Given the description of an element on the screen output the (x, y) to click on. 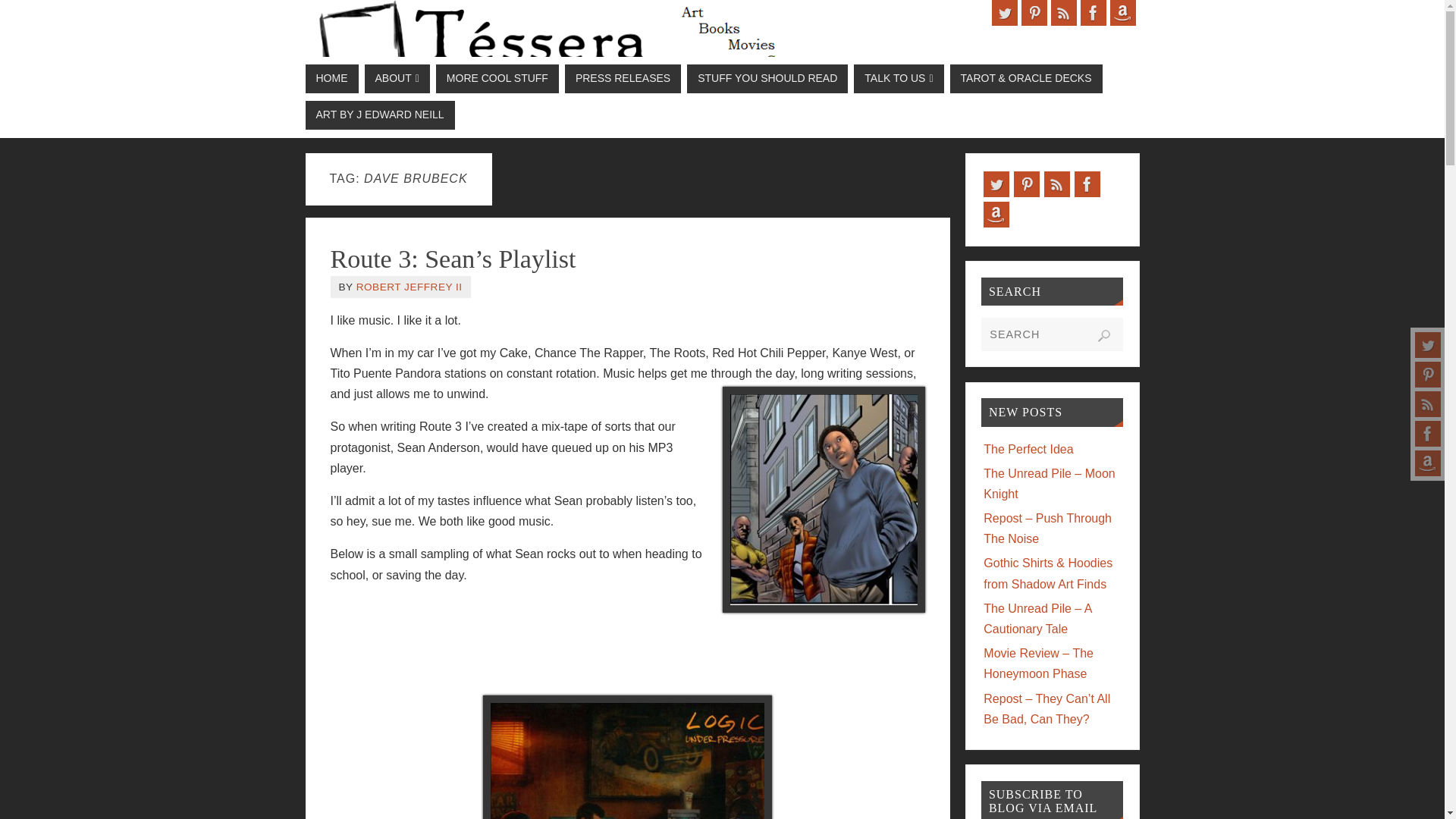
HOME (331, 78)
ROBERT JEFFREY II (409, 286)
Amazon (1428, 462)
ART BY J EDWARD NEILL (379, 114)
TALK TO US (898, 78)
Tessera Guild (721, 45)
ABOUT (396, 78)
Facebook (1428, 433)
Pinterest (1033, 12)
Amazon (1122, 12)
Twitter (1004, 12)
View all posts by Robert Jeffrey II (409, 286)
STUFF YOU SHOULD READ (767, 78)
MORE COOL STUFF (497, 78)
PRESS RELEASES (622, 78)
